Given the description of an element on the screen output the (x, y) to click on. 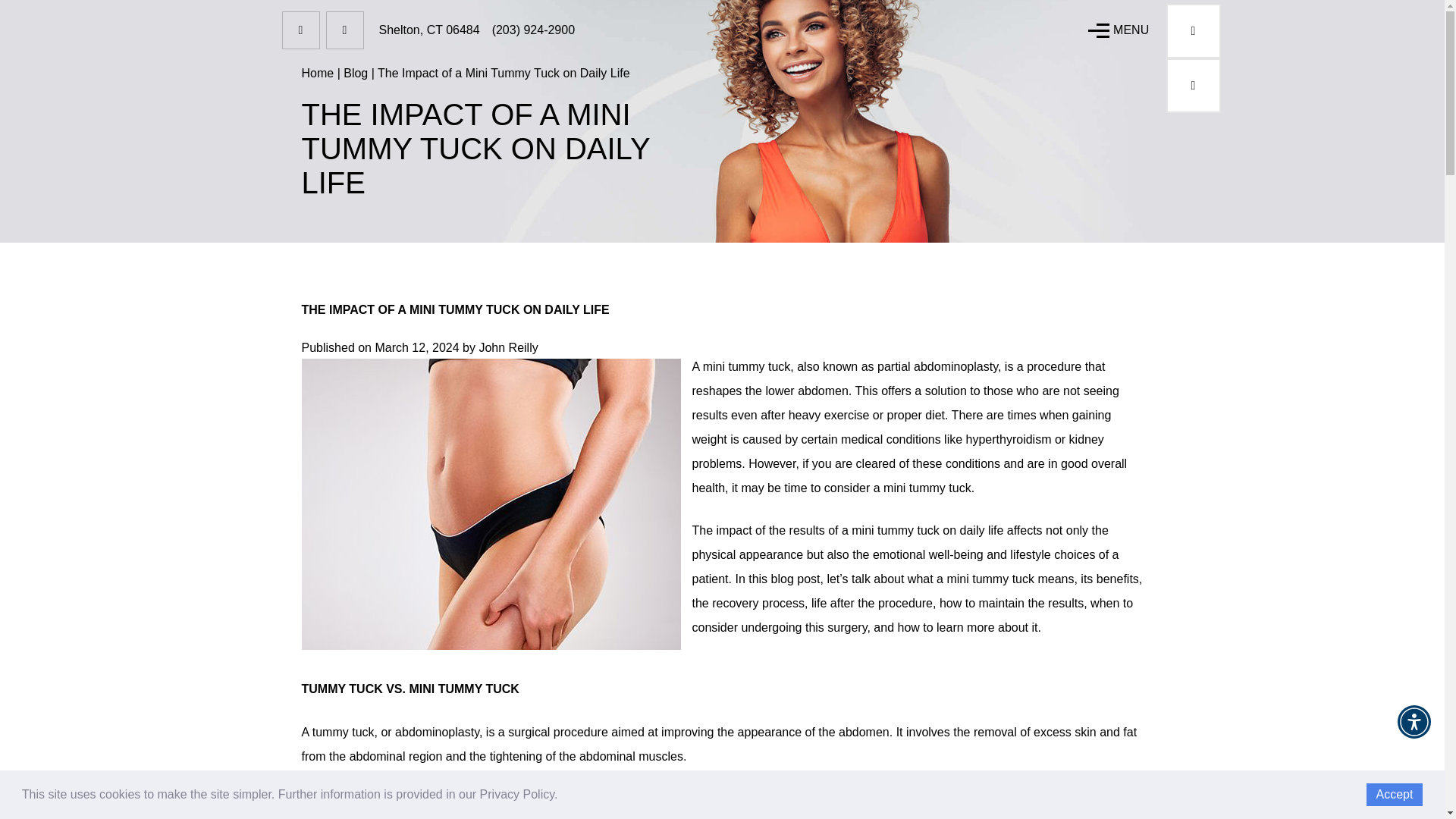
Shelton, CT 06484 (429, 29)
Accessibility Menu (1414, 721)
